Given the description of an element on the screen output the (x, y) to click on. 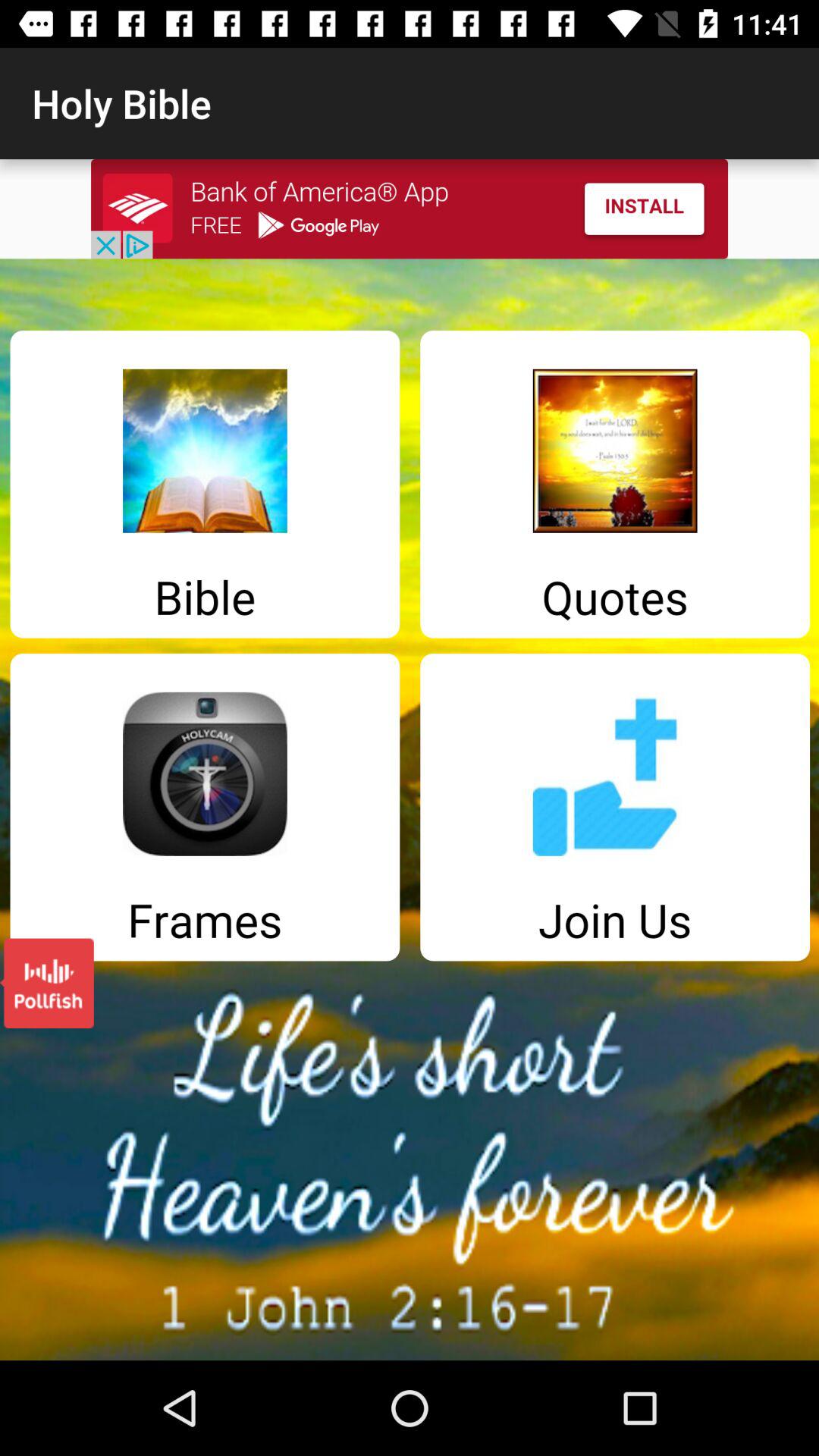
install the option (409, 208)
